Given the description of an element on the screen output the (x, y) to click on. 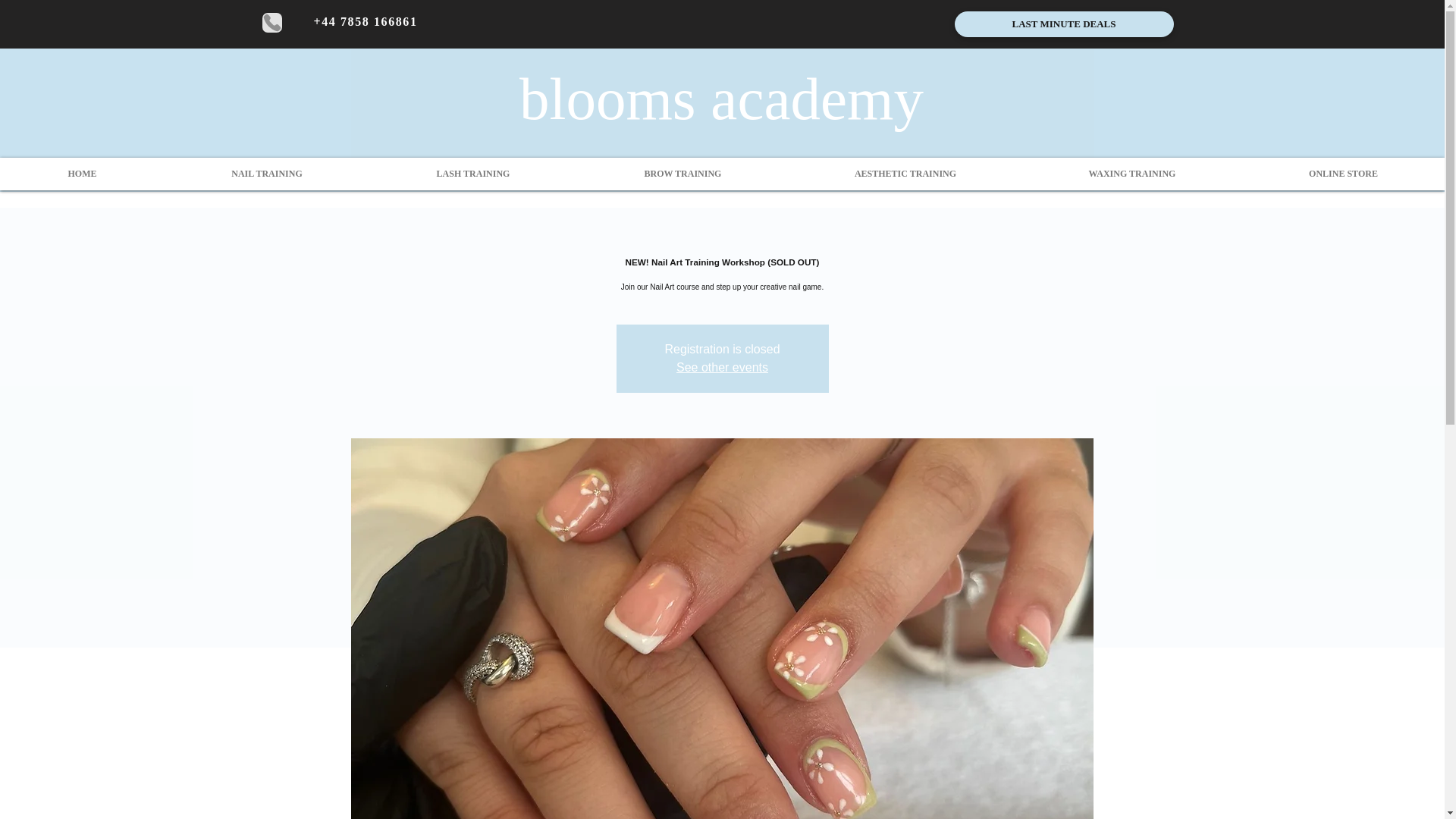
blooms academy (721, 97)
LAST MINUTE DEALS (1063, 23)
HOME (82, 174)
See other events (722, 367)
